Given the description of an element on the screen output the (x, y) to click on. 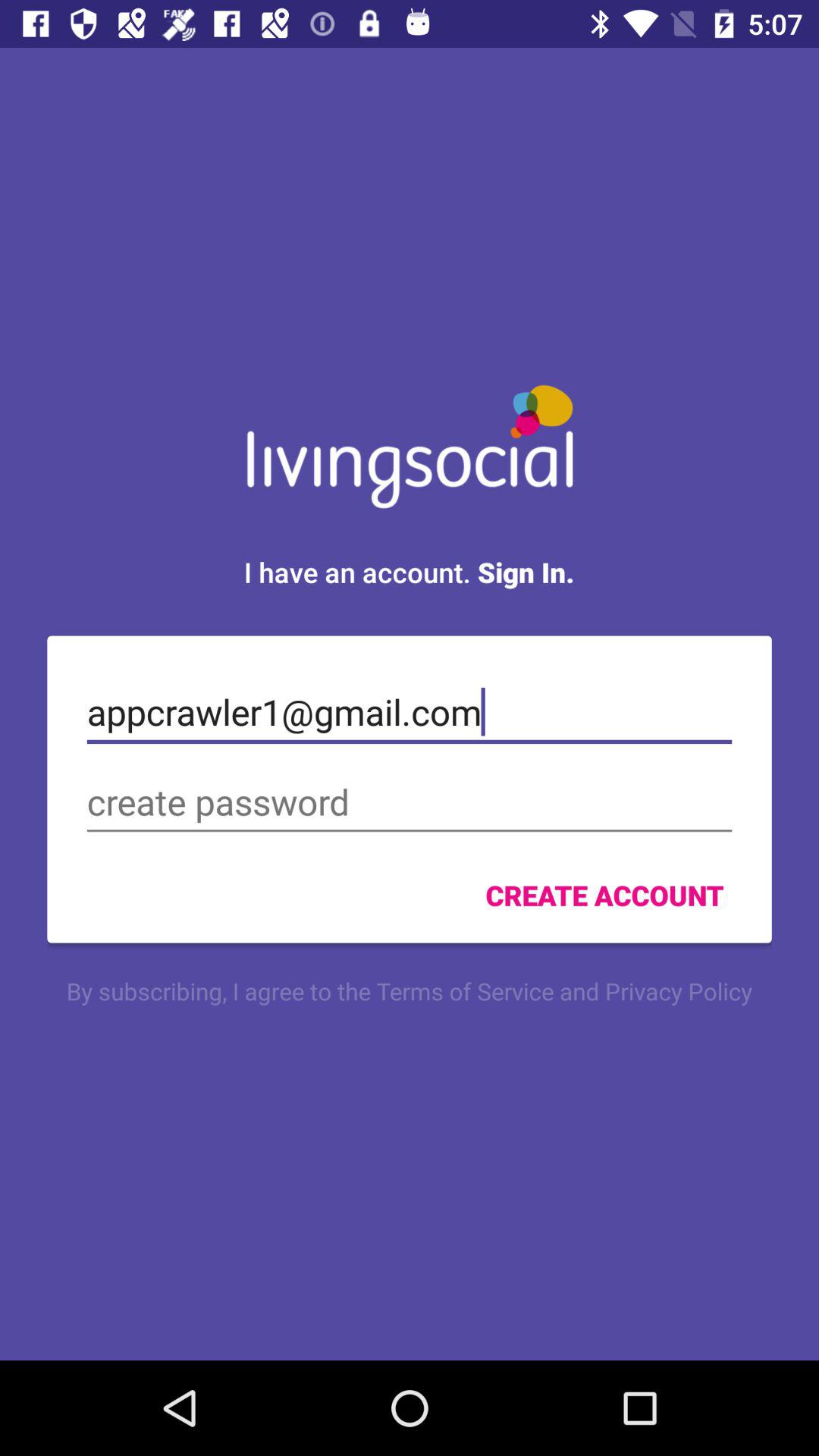
launch the appcrawler1@gmail.com item (409, 712)
